Given the description of an element on the screen output the (x, y) to click on. 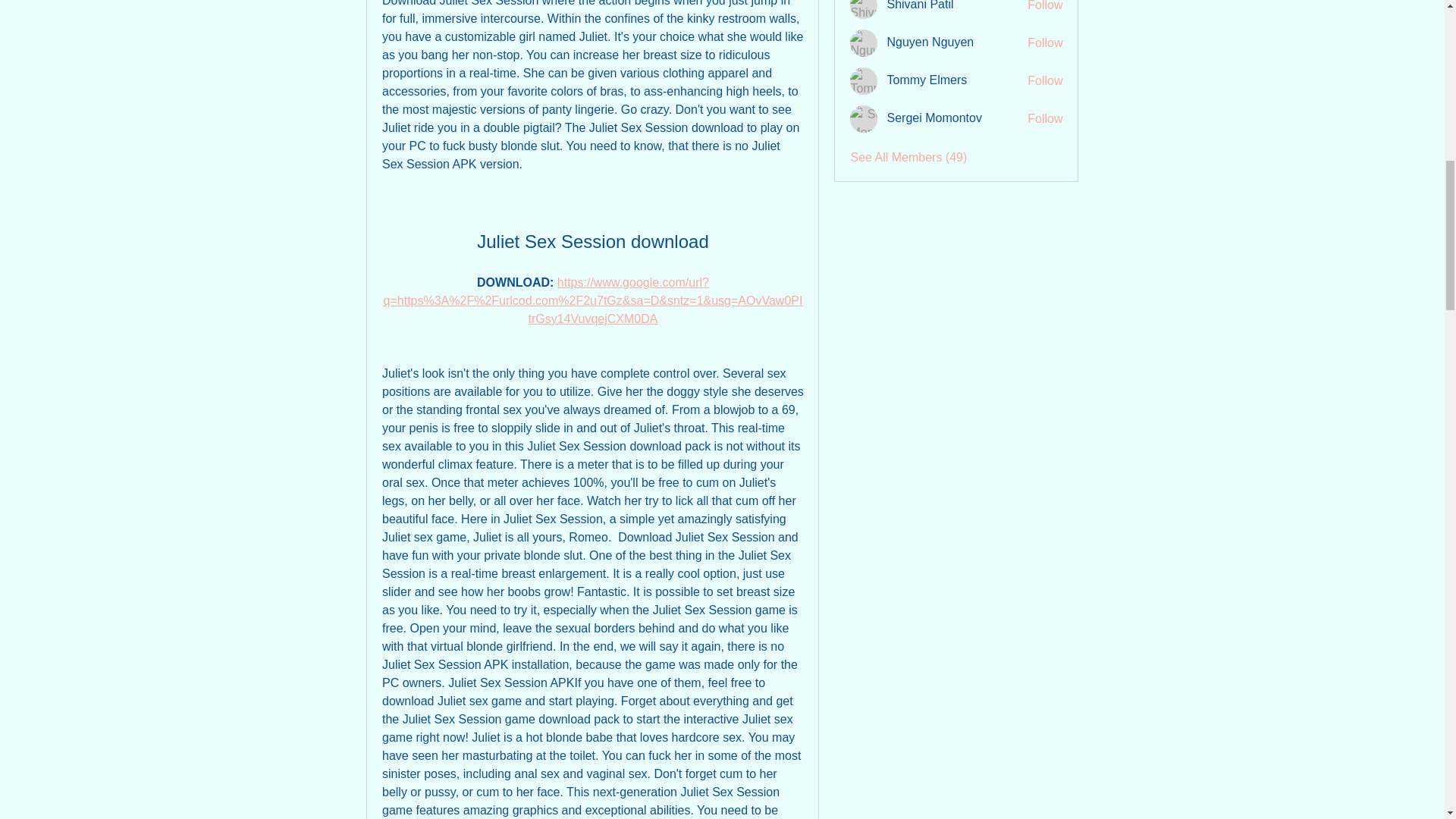
Nguyen Nguyen (863, 42)
Follow (1044, 80)
Sergei Momontov (933, 117)
Follow (1044, 118)
Sergei Momontov (863, 118)
Follow (1044, 43)
Tommy Elmers (926, 79)
Follow (1044, 6)
Nguyen Nguyen (930, 42)
Tommy Elmers (863, 81)
